Given the description of an element on the screen output the (x, y) to click on. 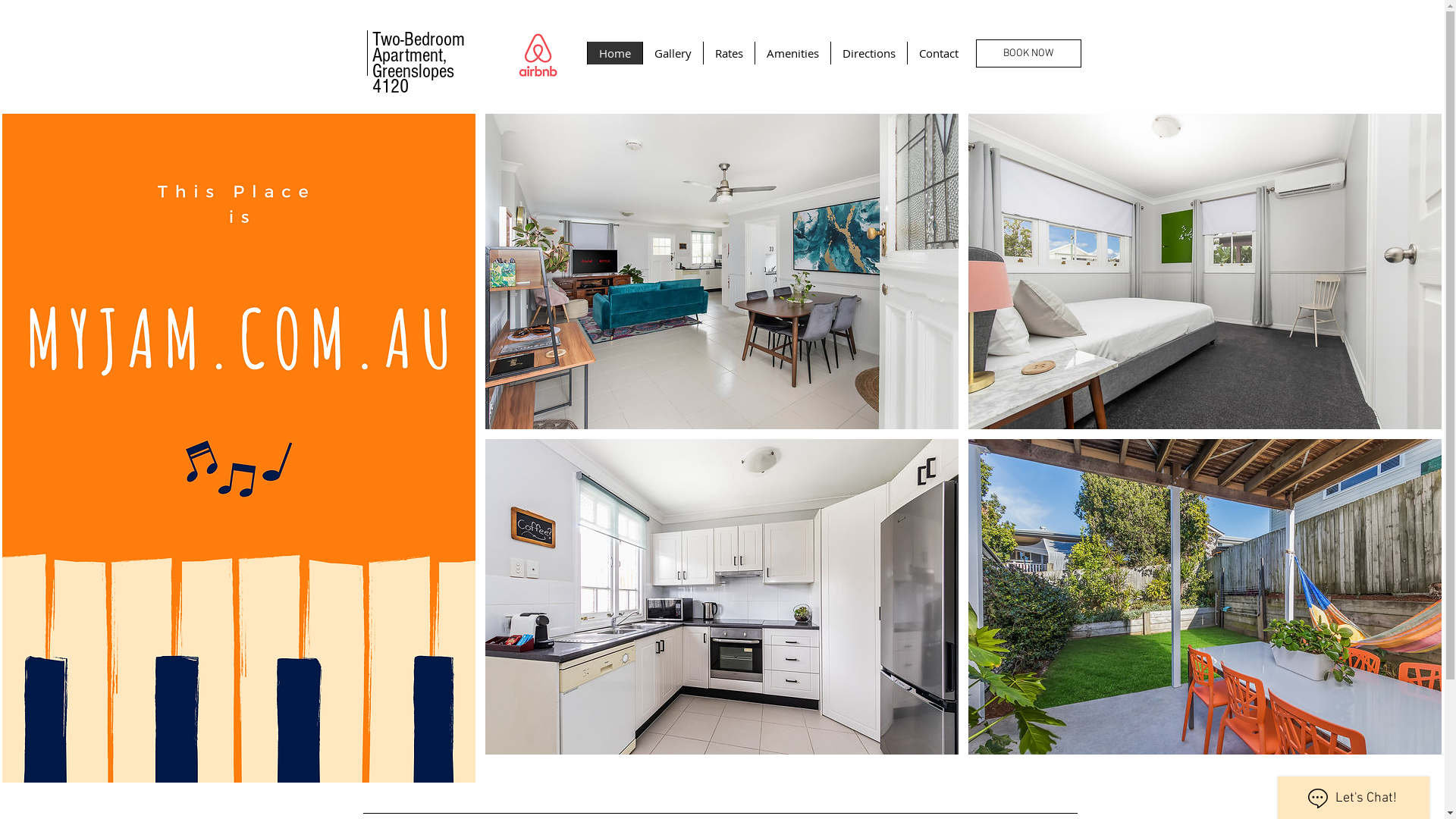
Amenities Element type: text (791, 52)
Directions Element type: text (867, 52)
Two-Bedroom Apartment, Greenslopes 4120 Element type: text (417, 62)
BOOK NOW Element type: text (1027, 53)
download.png Element type: hover (537, 54)
Home Element type: text (614, 52)
Rates Element type: text (727, 52)
Gallery Element type: text (671, 52)
Contact Element type: text (937, 52)
